Given the description of an element on the screen output the (x, y) to click on. 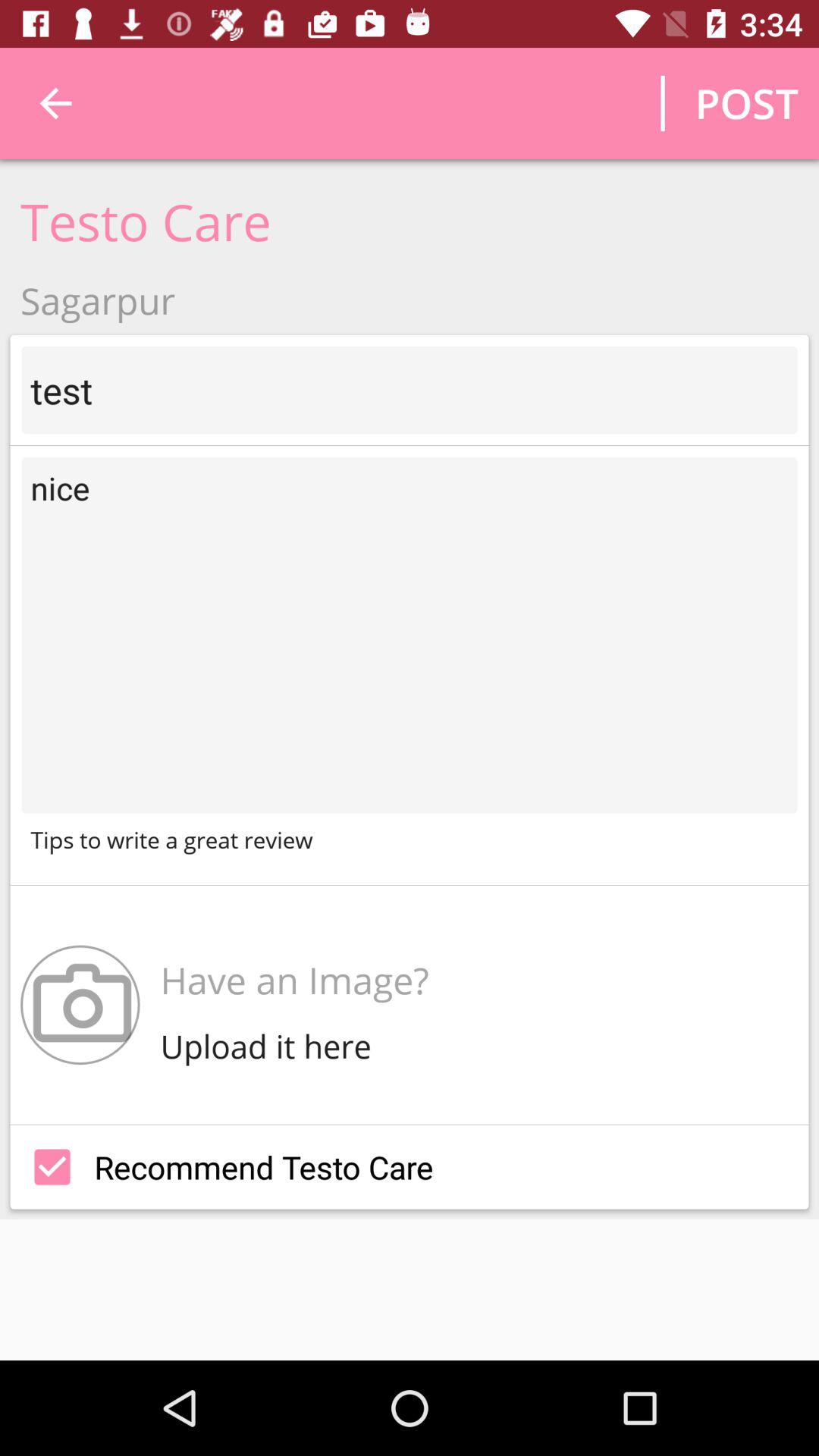
tap the post item (746, 103)
